Given the description of an element on the screen output the (x, y) to click on. 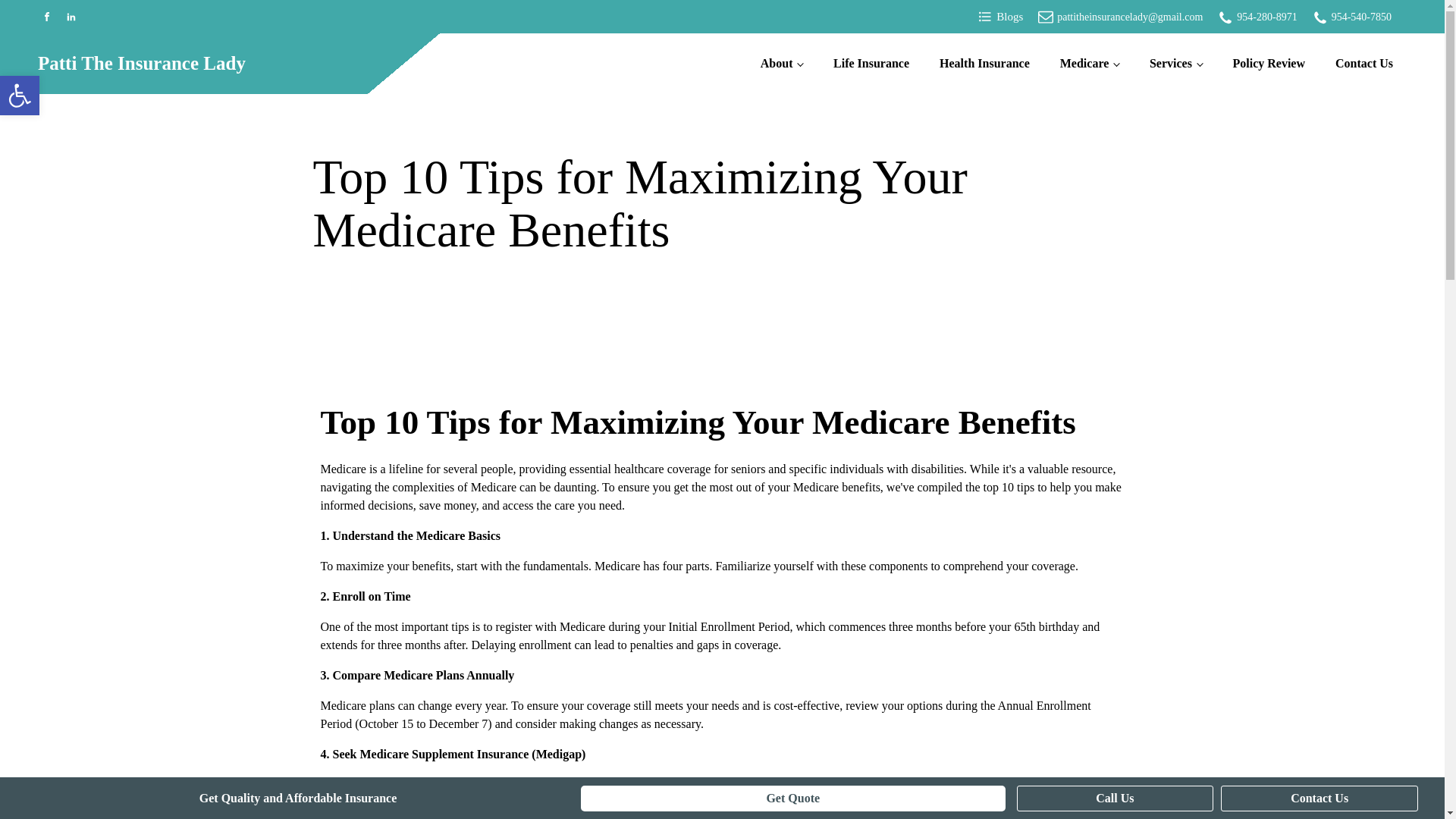
Blogs (999, 16)
Accessibility Tools (19, 95)
Services (1175, 63)
Medicare (1089, 63)
About (781, 63)
Contact Us (1363, 63)
Patti The Insurance Lady (141, 63)
Policy Review (1268, 63)
Life Insurance (871, 63)
Health Insurance (984, 63)
